Given the description of an element on the screen output the (x, y) to click on. 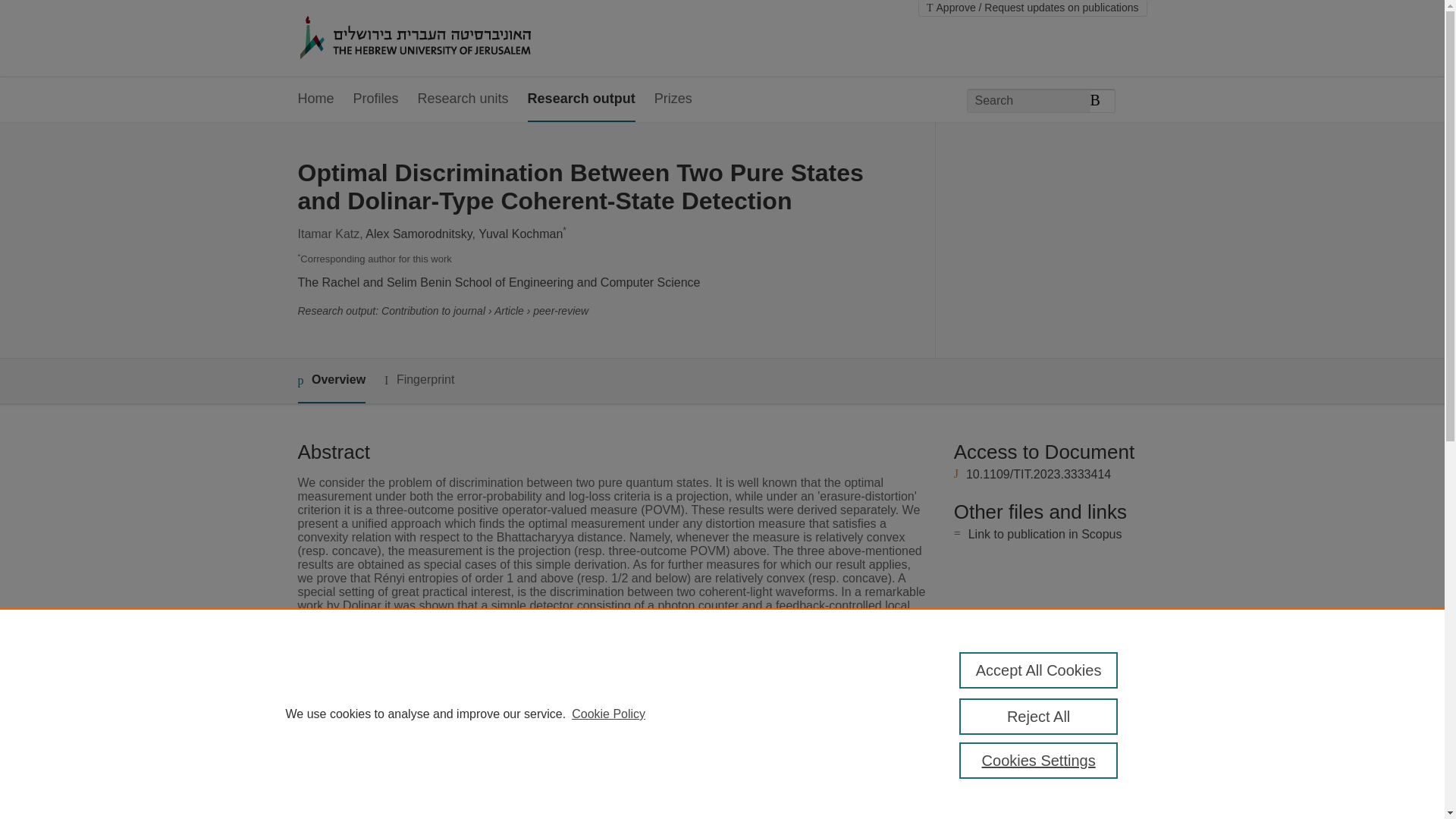
Cookies Settings (1038, 760)
Link to publication in Scopus (1045, 533)
Overview (331, 380)
Fingerprint (419, 380)
Research units (462, 99)
Cookie Policy (608, 713)
Profiles (375, 99)
Alex Samorodnitsky (418, 233)
IEEE Transactions on Information Theory (617, 737)
The Hebrew University of Jerusalem Home (447, 38)
Yuval Kochman (520, 233)
Research output (580, 99)
Accept All Cookies (1038, 669)
